Given the description of an element on the screen output the (x, y) to click on. 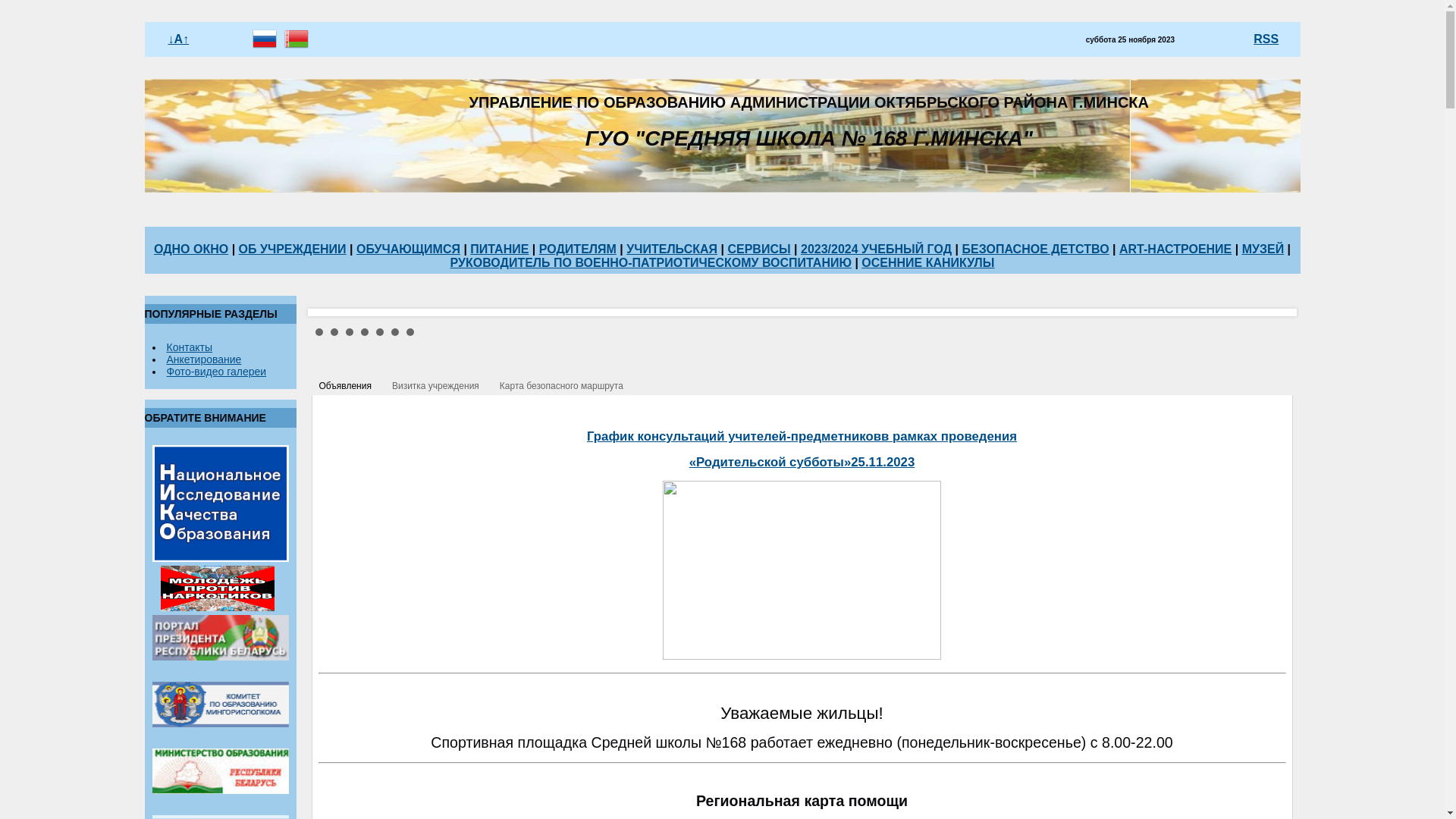
Next Element type: text (1264, 312)
2 Element type: text (334, 331)
1 Element type: text (319, 331)
Start Element type: text (1273, 330)
4 Element type: text (364, 331)
6 Element type: text (394, 331)
5 Element type: text (379, 331)
Stop Element type: text (1284, 330)
RSS Element type: text (1265, 38)
7 Element type: text (410, 331)
3 Element type: text (349, 331)
Prev Element type: text (330, 312)
